Given the description of an element on the screen output the (x, y) to click on. 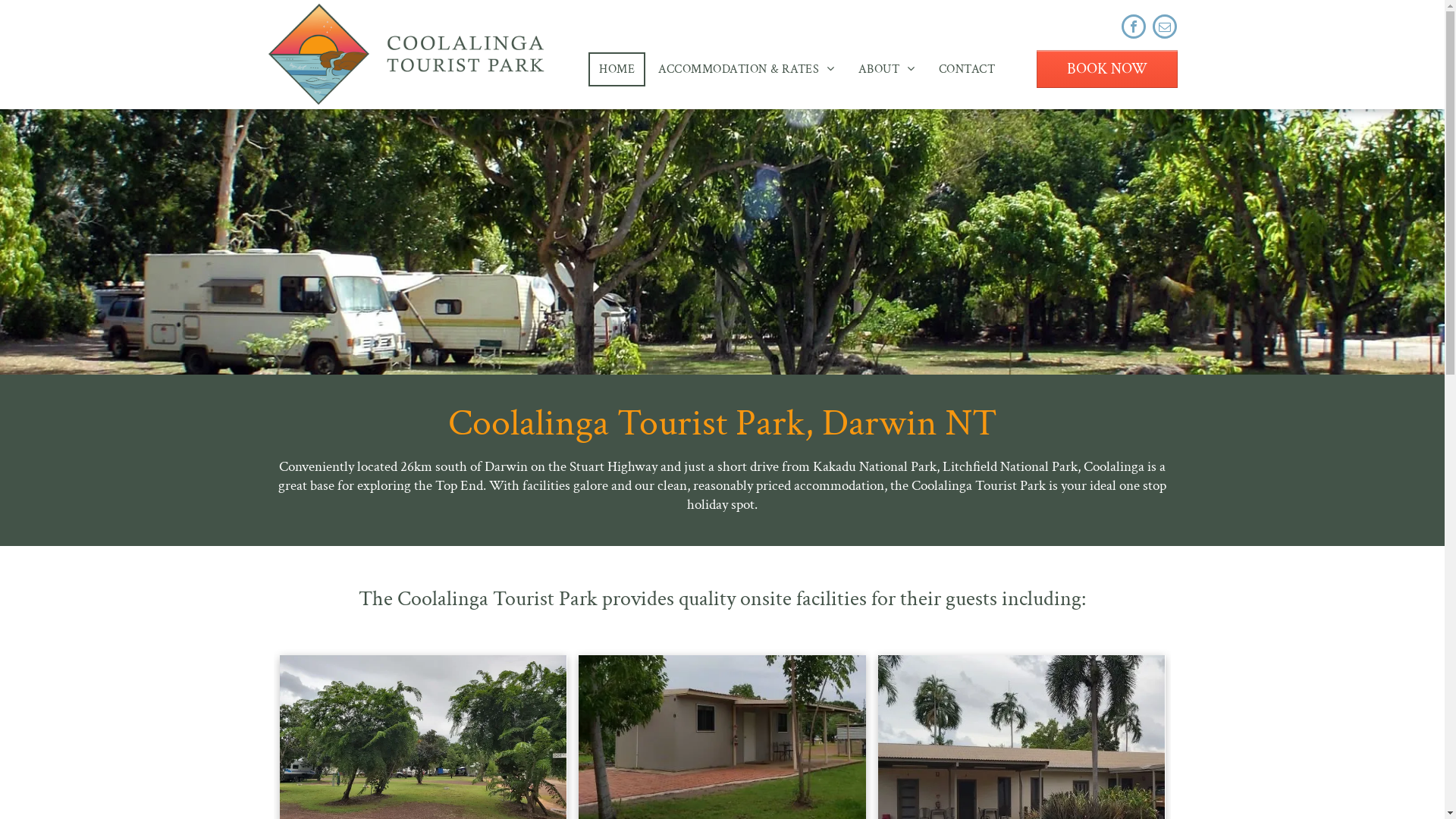
ACCOMMODATION & RATES Element type: text (746, 68)
BOOK NOW Element type: text (1106, 68)
HOME Element type: text (616, 68)
CONTACT Element type: text (966, 68)
ABOUT Element type: text (886, 68)
